Given the description of an element on the screen output the (x, y) to click on. 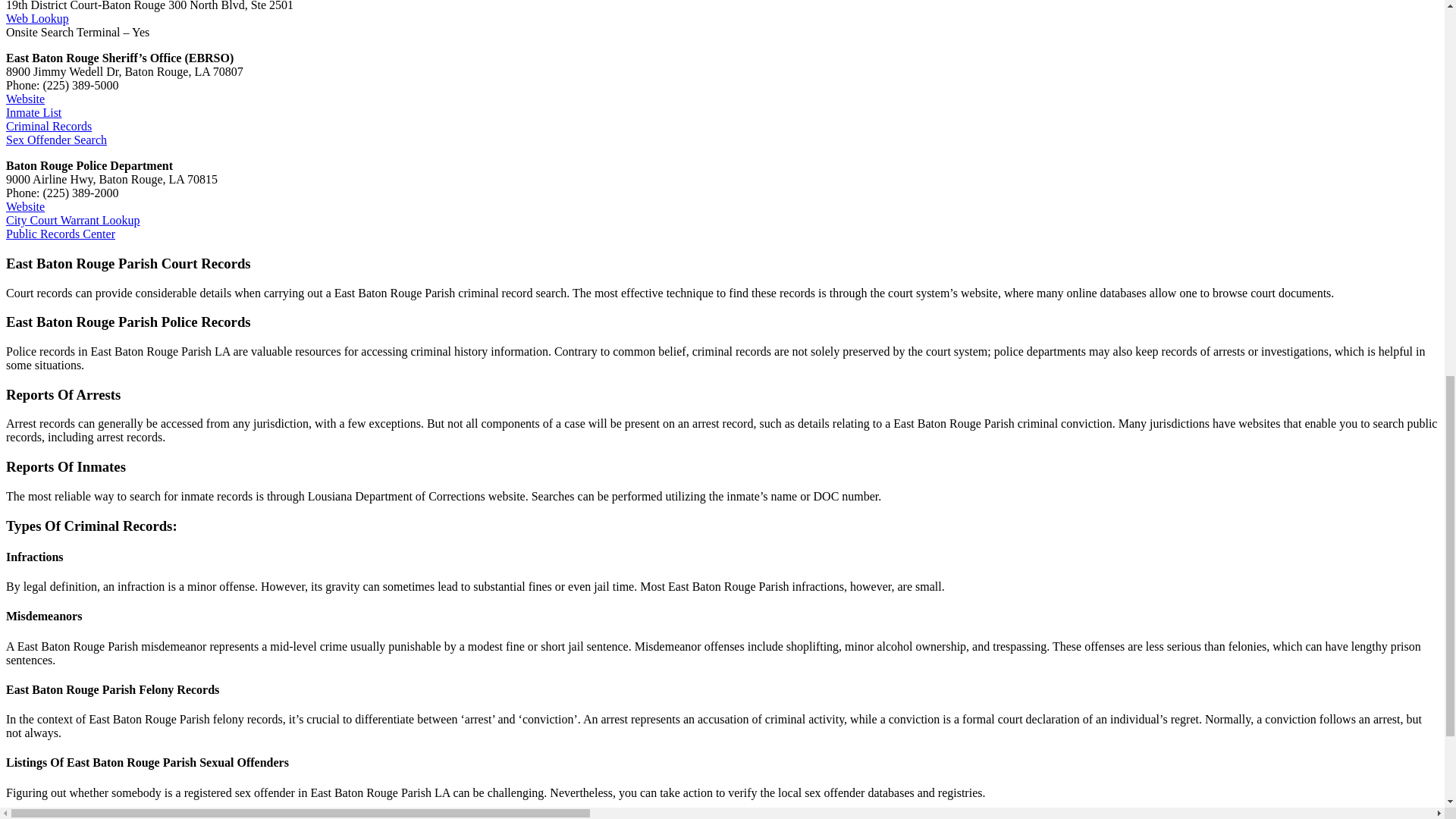
Inmate List (33, 112)
City Court Warrant Lookup (72, 219)
Sex Offender Search (55, 139)
Website (25, 98)
Criminal Records (48, 125)
Public Records Center (60, 233)
Website (25, 205)
Web Lookup (36, 18)
